Given the description of an element on the screen output the (x, y) to click on. 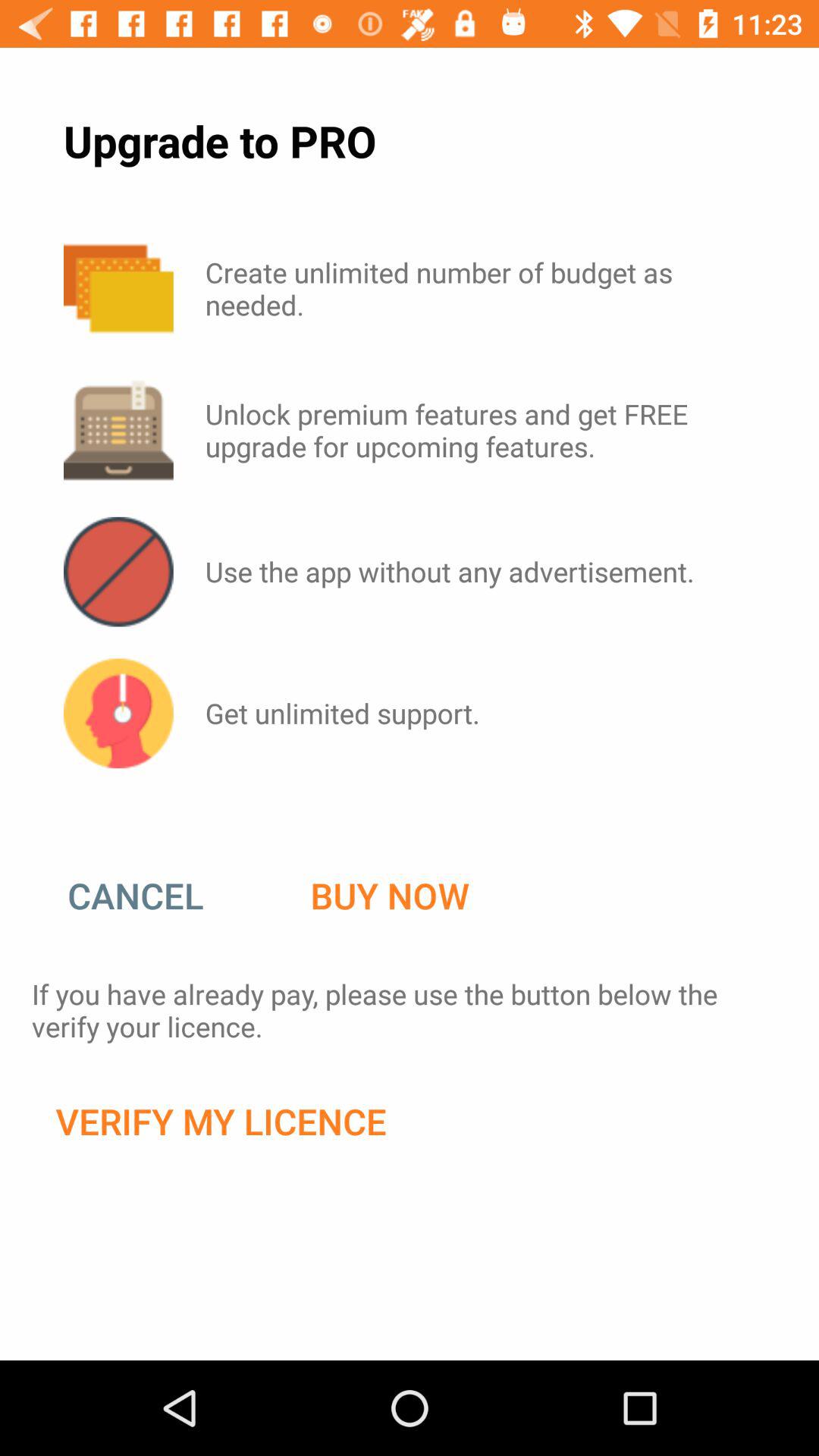
press the icon to the right of the cancel (389, 895)
